Given the description of an element on the screen output the (x, y) to click on. 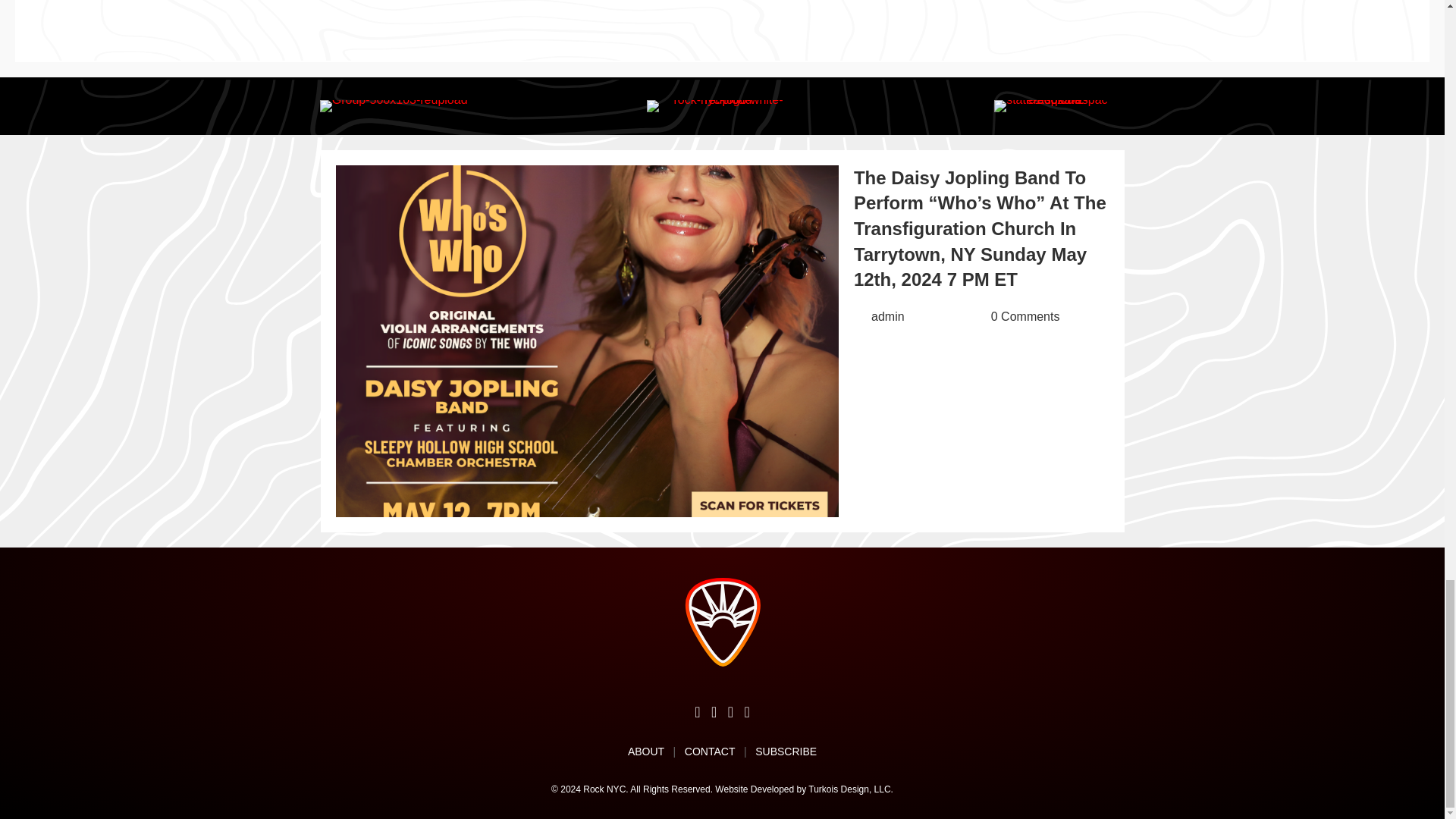
Group-500x103-reupload (393, 105)
static1.squarespace-500x371-reupload (1051, 105)
rock-nyc-logo-white-reupload (721, 105)
